Given the description of an element on the screen output the (x, y) to click on. 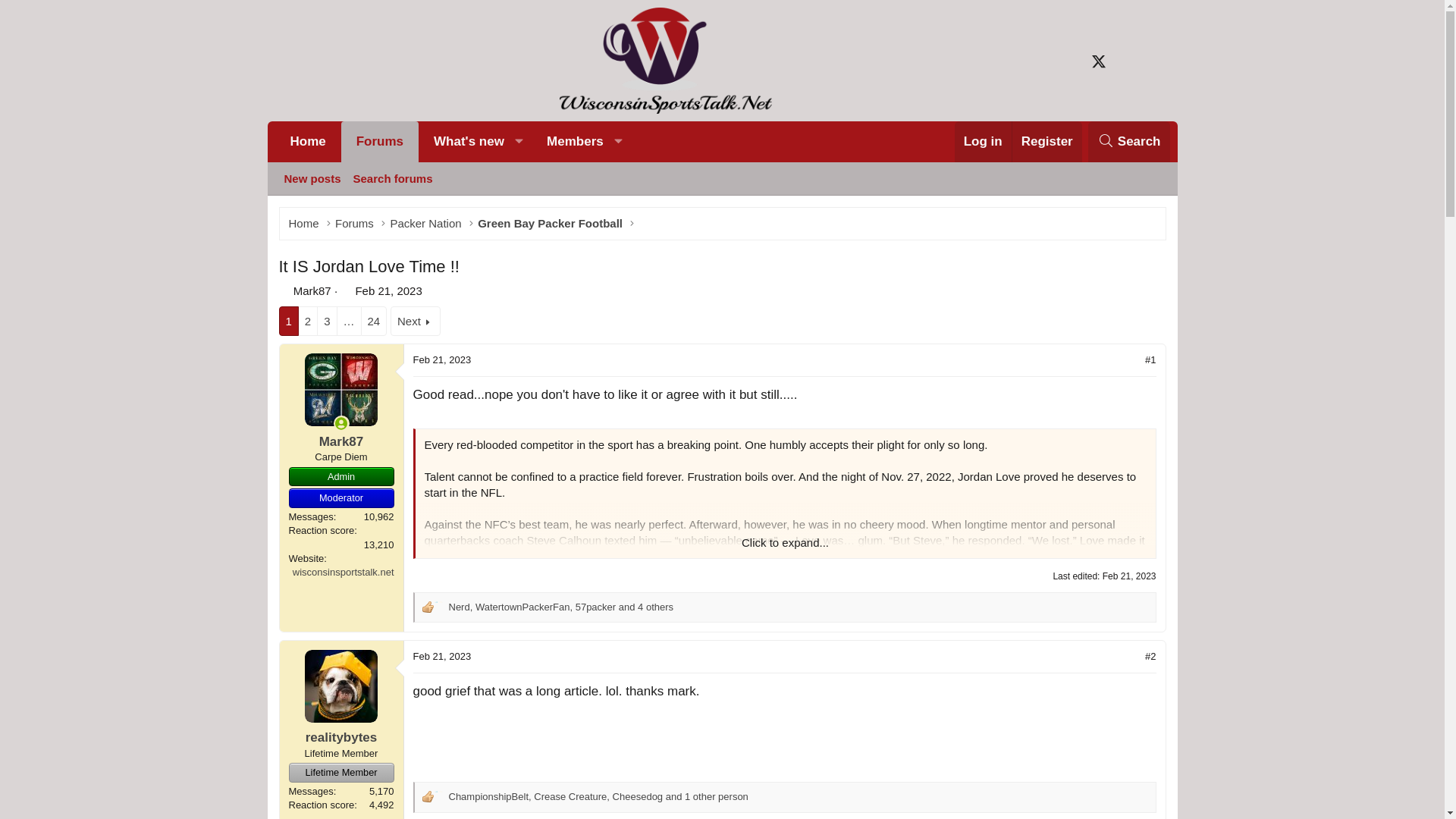
Contact us (1128, 60)
What's new (462, 141)
Log in (983, 141)
Mark87 (312, 290)
Cheers (438, 607)
Green Bay Packer Football (550, 223)
Packer Nation (720, 195)
Thread starter (425, 223)
Search (284, 290)
Cheers (1128, 141)
Home (438, 797)
Forums (303, 223)
Facebook (354, 223)
